Given the description of an element on the screen output the (x, y) to click on. 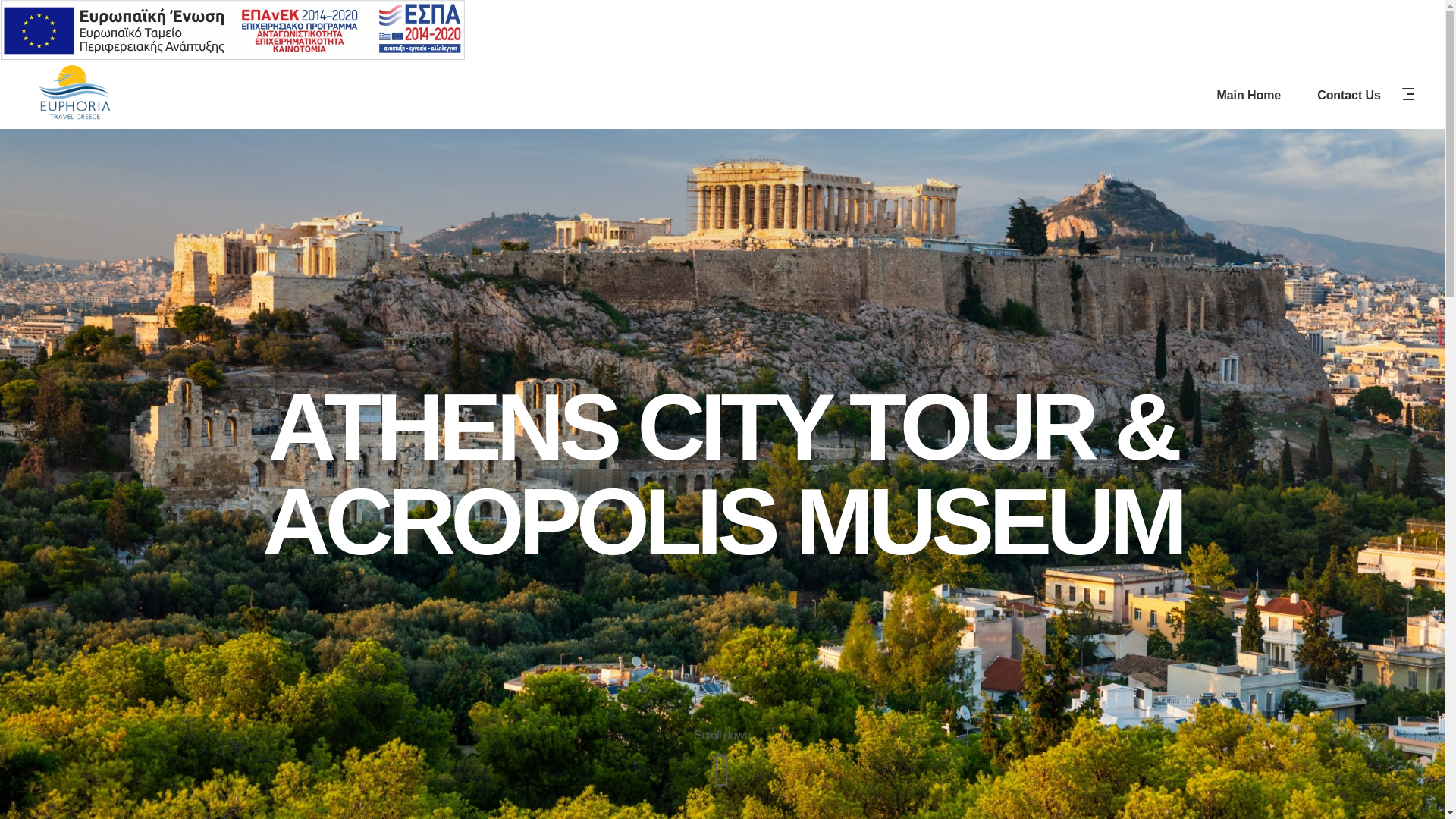
Scroll down (721, 734)
Main Home (1249, 94)
Contact Us (1348, 94)
Scroll down (721, 759)
